Given the description of an element on the screen output the (x, y) to click on. 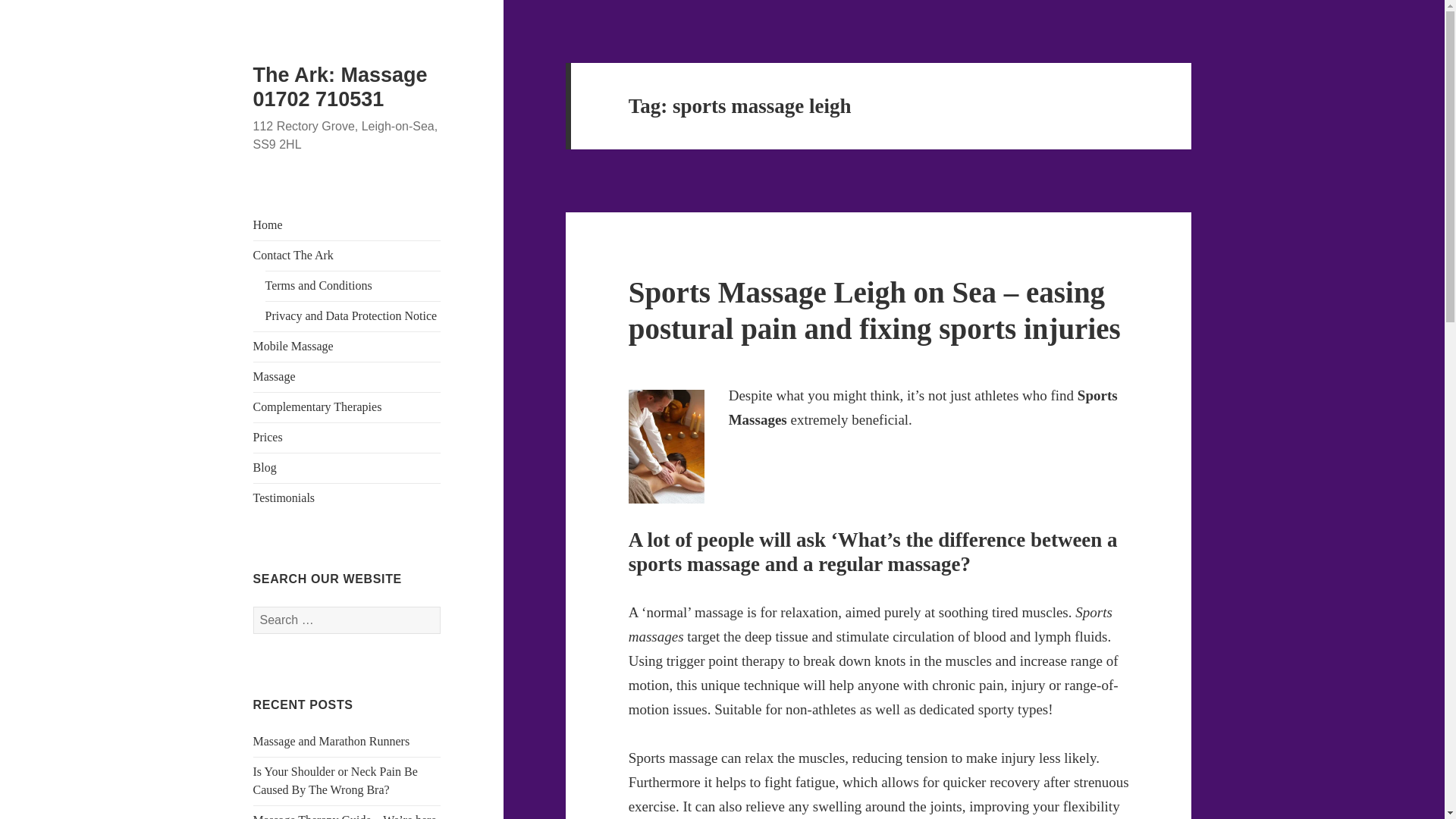
Privacy and Data Protection Notice (351, 315)
Prices (267, 436)
Complementary Therapies (317, 406)
The Ark: Massage 01702 710531 (340, 86)
Testimonials (284, 497)
Terms and Conditions (318, 285)
Massage (274, 376)
Home (267, 224)
Contact The Ark (293, 254)
